Given the description of an element on the screen output the (x, y) to click on. 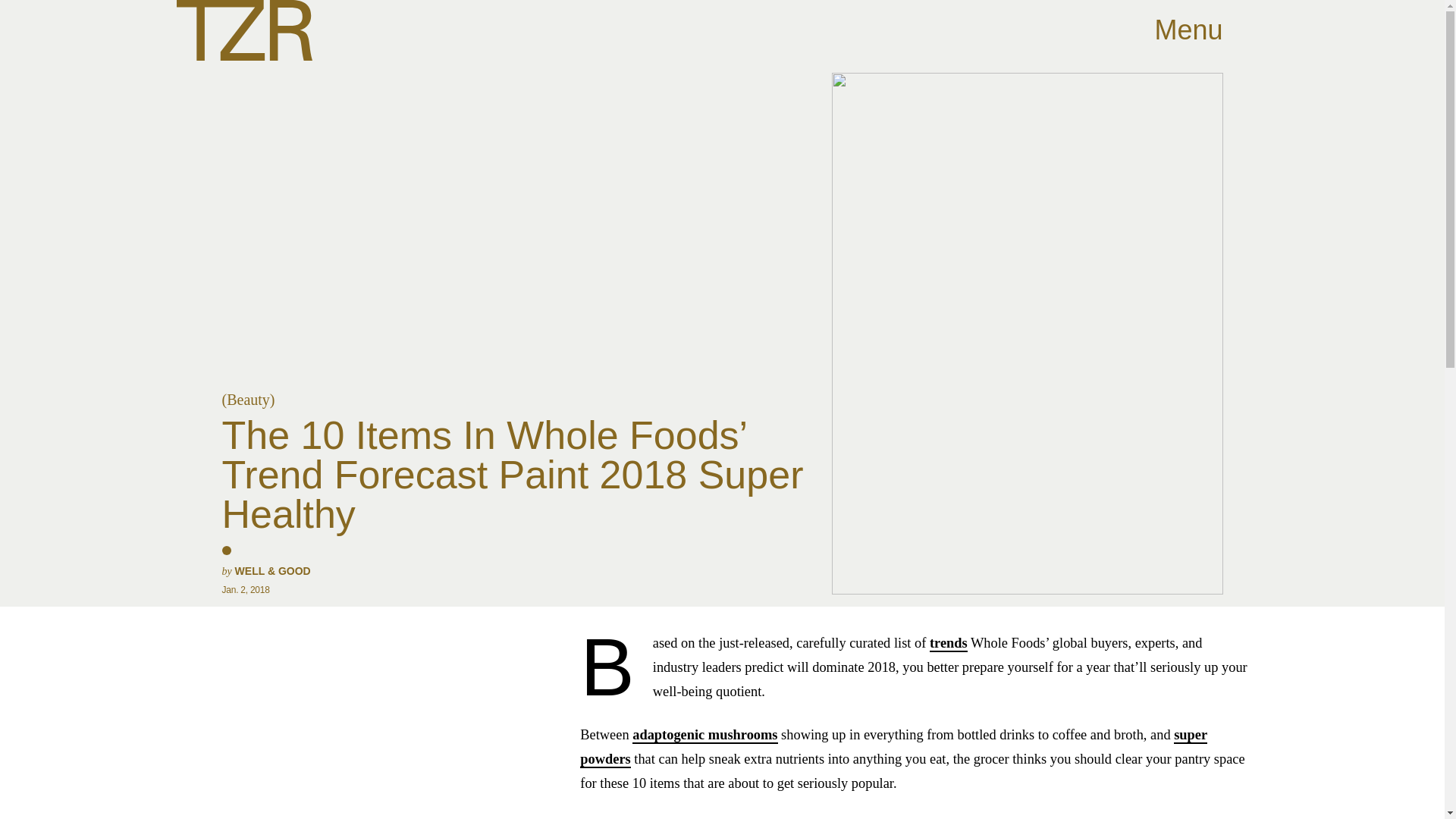
super powders (893, 747)
adaptogenic mushrooms (704, 735)
trends (949, 643)
The Zoe Report (243, 30)
